Given the description of an element on the screen output the (x, y) to click on. 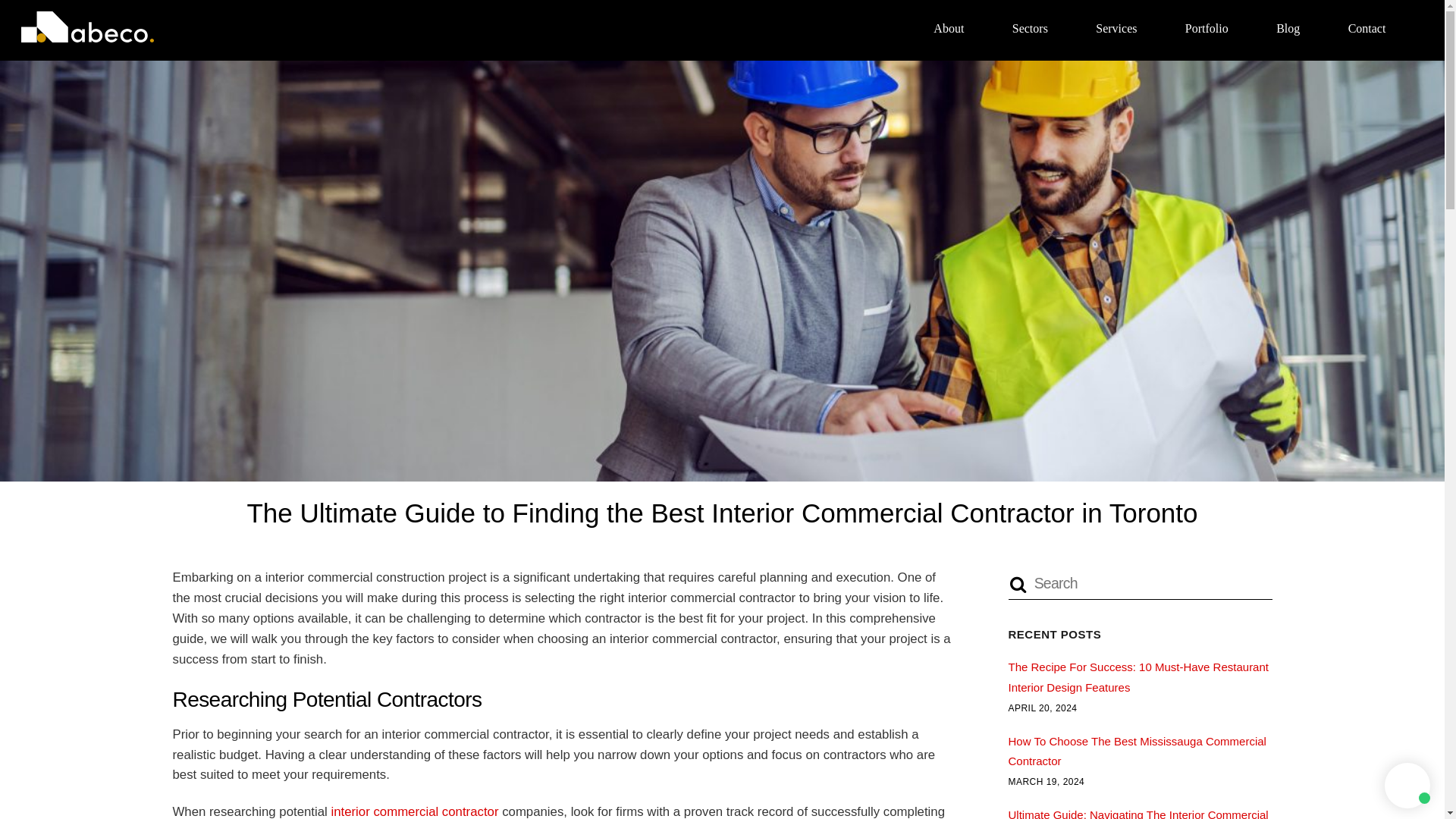
Contact (1366, 27)
Abeco Building Group (87, 26)
Search (1140, 583)
Sectors (1029, 27)
Abeco Building Group (87, 34)
About (948, 27)
Services (1116, 27)
Blog (1288, 27)
